Given the description of an element on the screen output the (x, y) to click on. 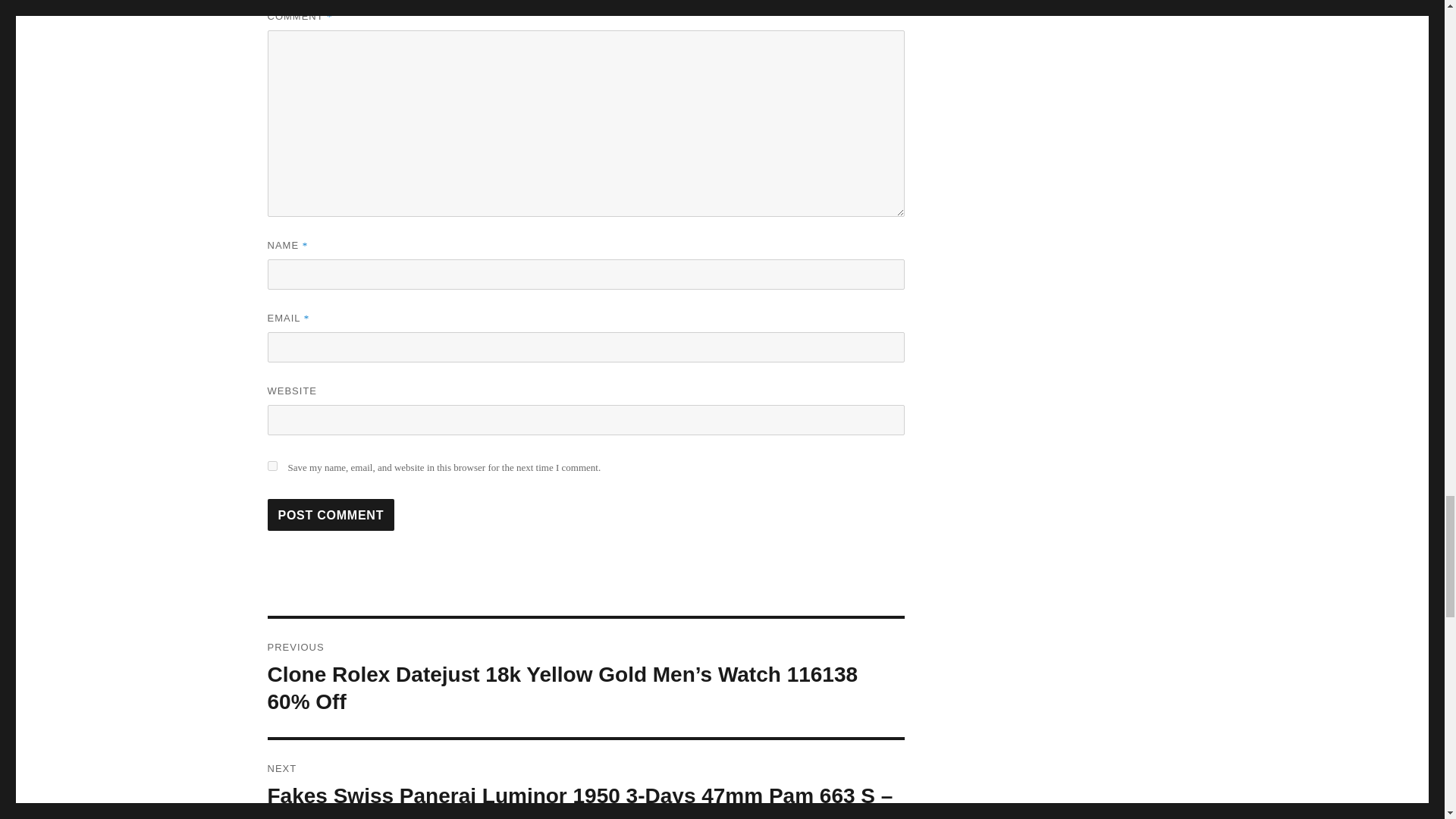
Post Comment (330, 514)
yes (271, 465)
Post Comment (330, 514)
